Given the description of an element on the screen output the (x, y) to click on. 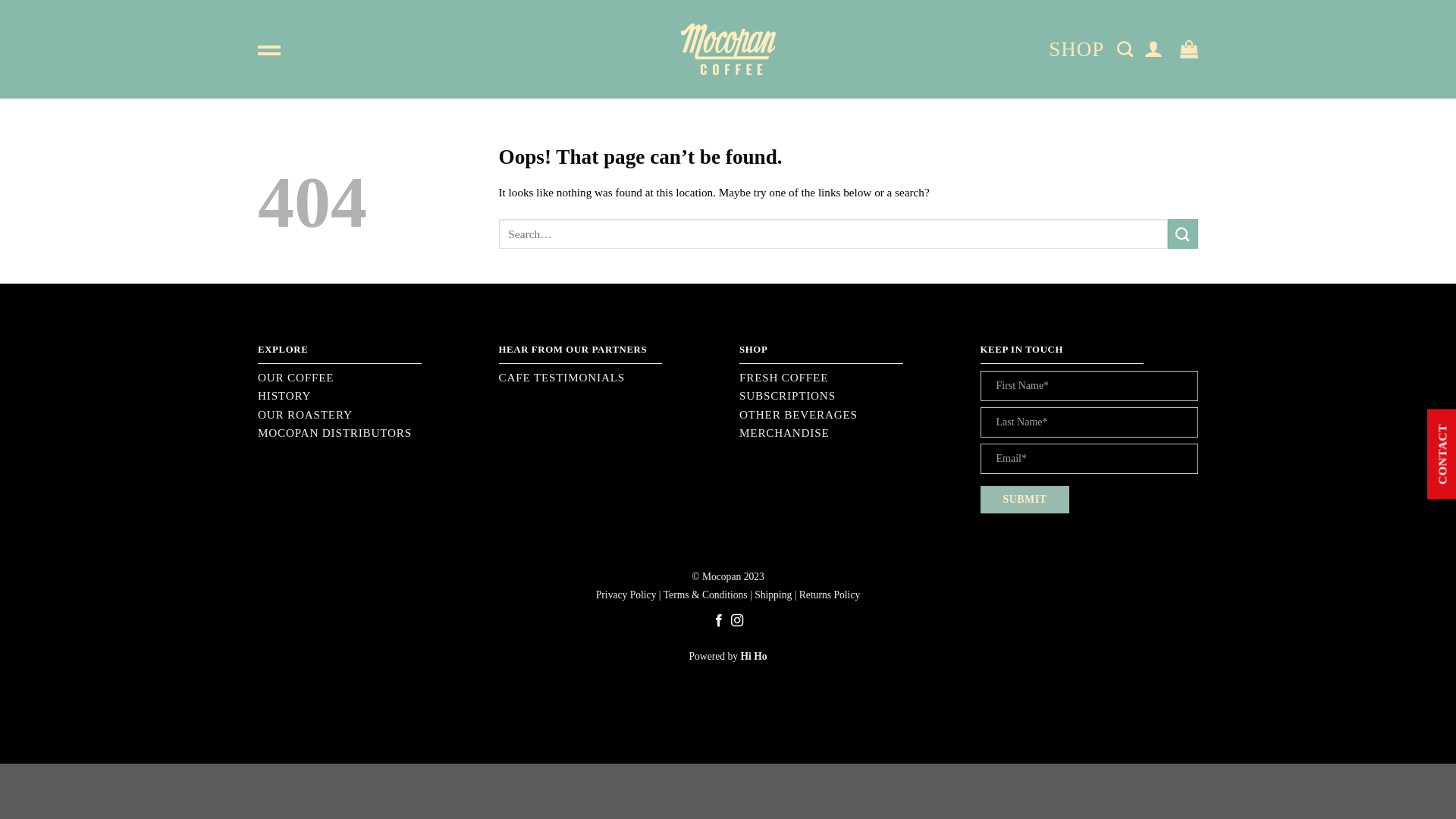
Privacy Policy Element type: text (626, 594)
MERCHANDISE Element type: text (848, 432)
Terms & Conditions Element type: text (705, 594)
Skip to content Element type: text (0, 0)
Mocopan - Coffee Roasters Element type: hover (727, 49)
HISTORY Element type: text (366, 395)
Shipping Element type: text (772, 594)
CAFE TESTIMONIALS Element type: text (607, 377)
OUR ROASTERY Element type: text (366, 414)
Cart Element type: hover (1188, 49)
OTHER BEVERAGES Element type: text (848, 414)
SUBSCRIPTIONS Element type: text (848, 395)
MOCOPAN DISTRIBUTORS Element type: text (366, 432)
OUR COFFEE Element type: text (366, 377)
Returns Policy Element type: text (829, 594)
SHOP Element type: text (1076, 49)
FRESH COFFEE Element type: text (848, 377)
Hi Ho Element type: text (753, 656)
SUBMIT Element type: text (1024, 499)
